Given the description of an element on the screen output the (x, y) to click on. 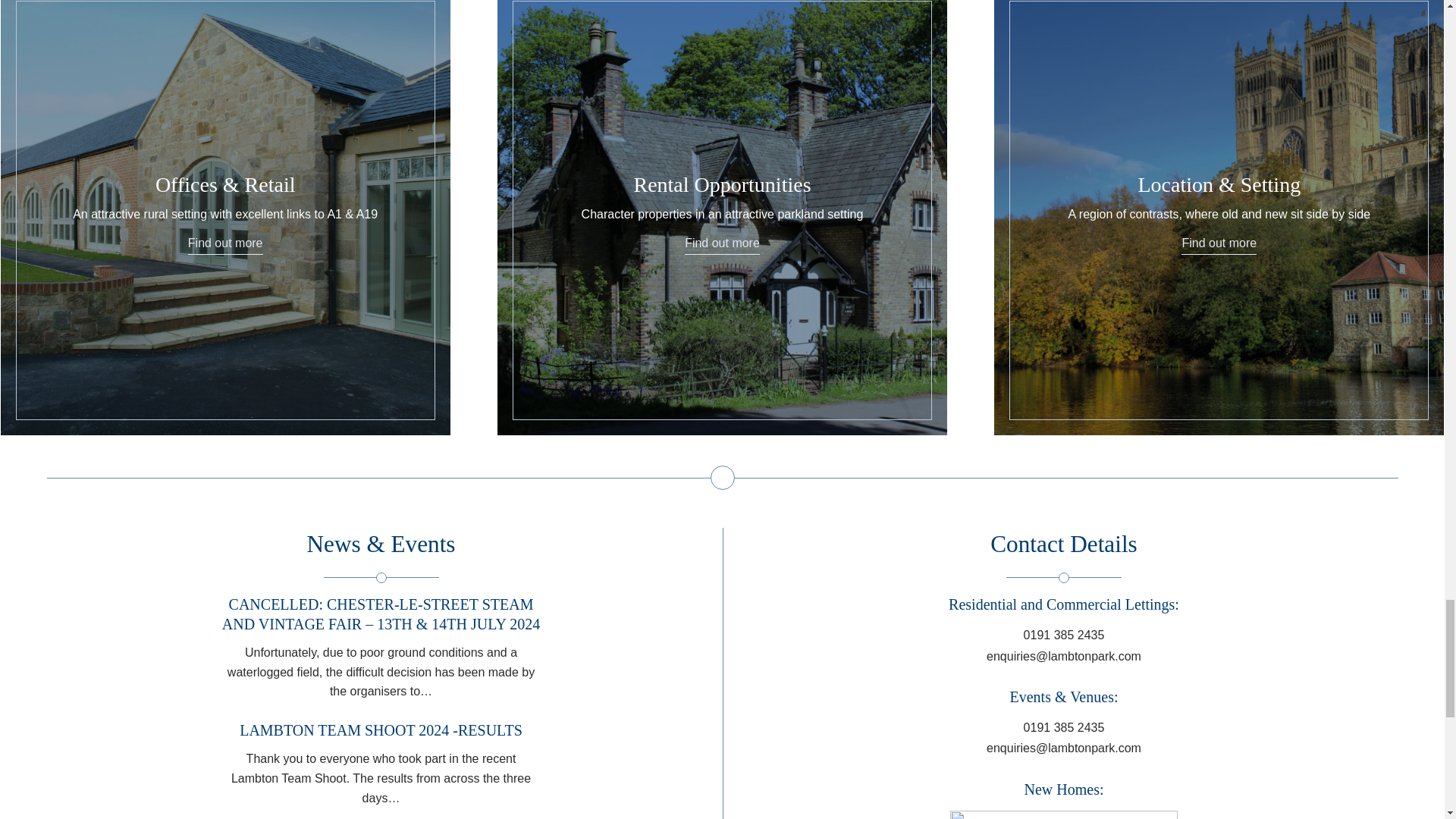
0191 385 2435 (1064, 728)
0191 385 2435 (1064, 636)
